Given the description of an element on the screen output the (x, y) to click on. 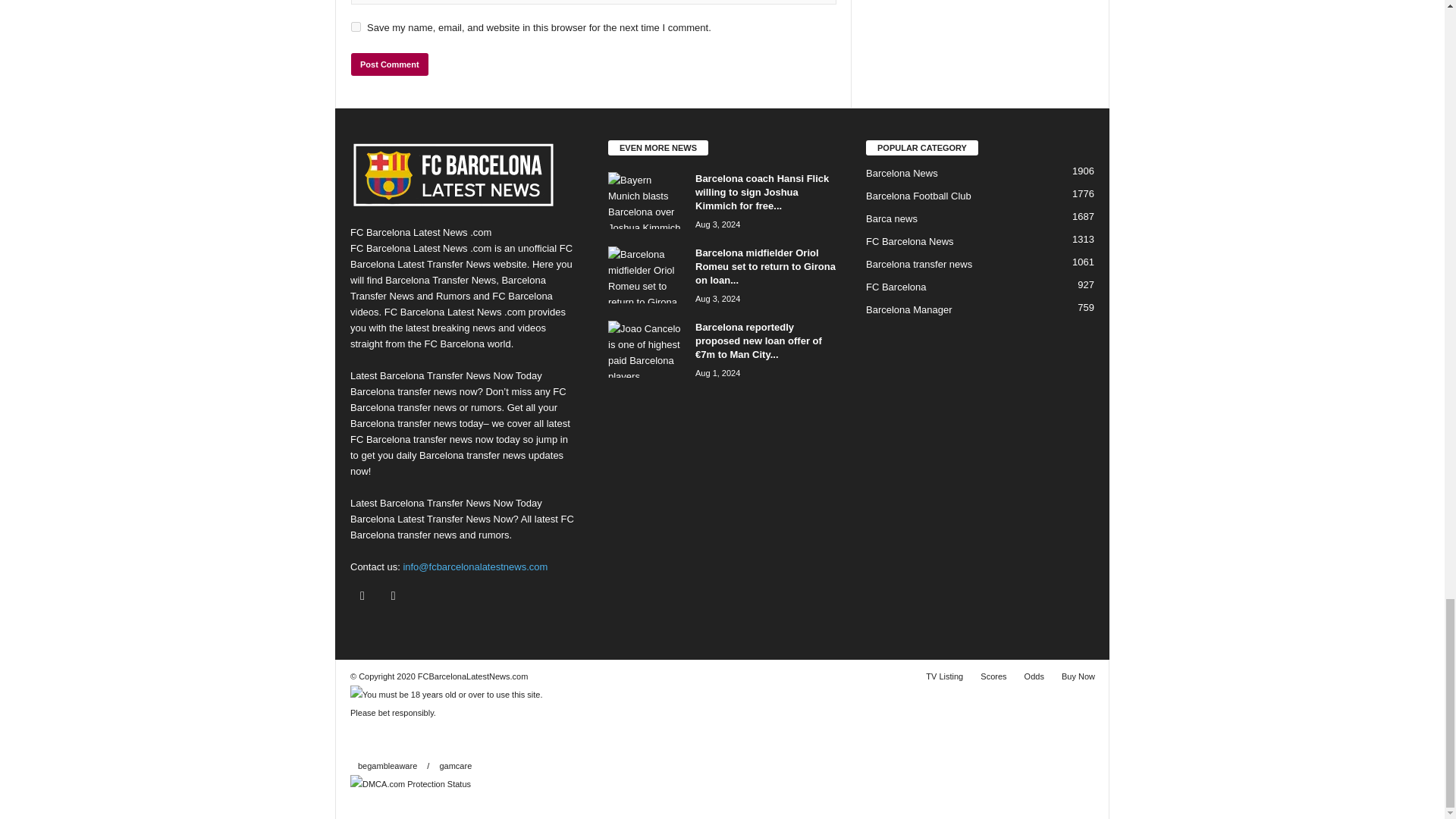
yes (355, 26)
Post Comment (389, 64)
